Given the description of an element on the screen output the (x, y) to click on. 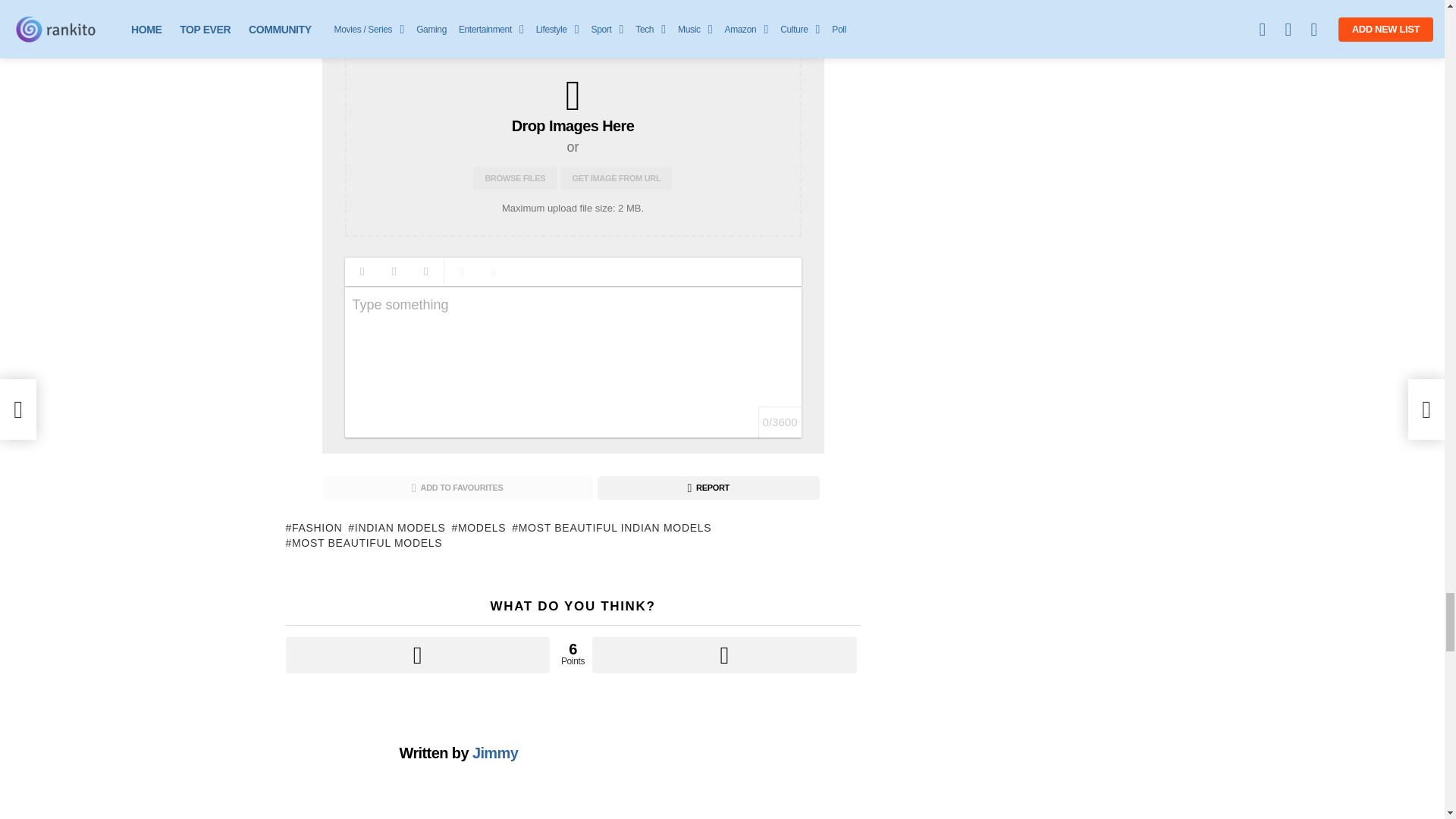
Browse files (514, 178)
Get image from URL (615, 178)
